Given the description of an element on the screen output the (x, y) to click on. 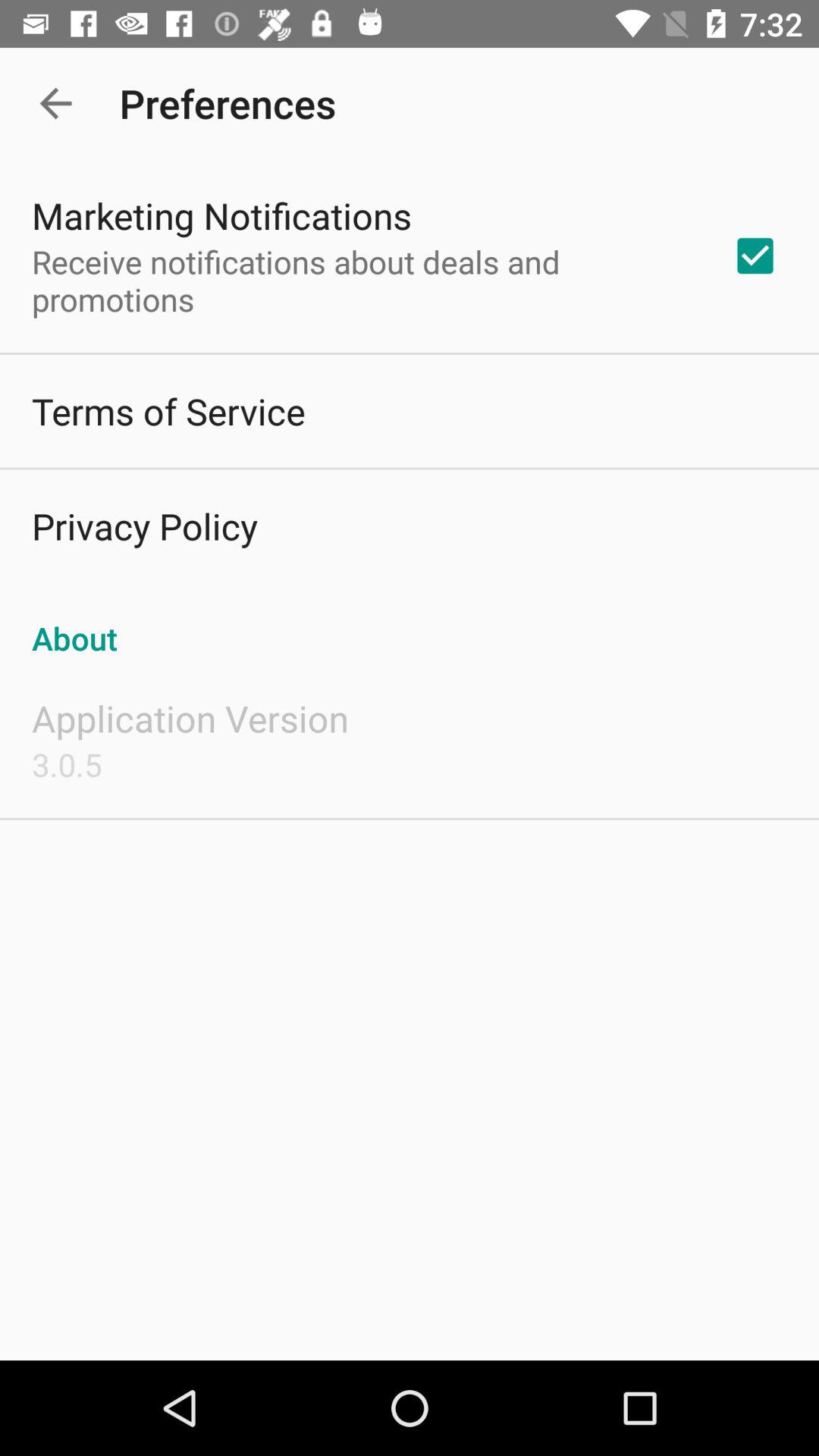
press application version app (189, 717)
